Given the description of an element on the screen output the (x, y) to click on. 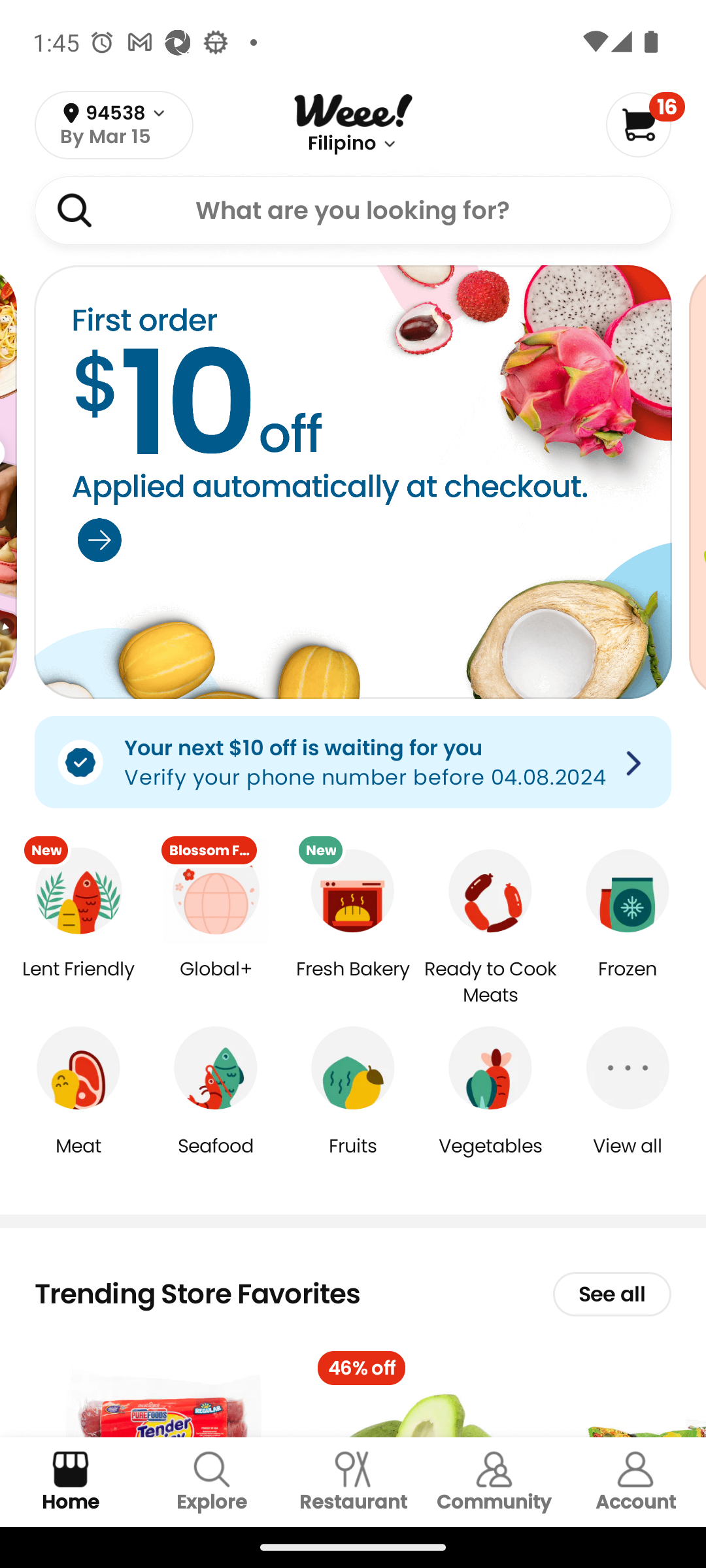
94538 By Mar 15 (113, 124)
16 (644, 124)
Filipino (341, 143)
What are you looking for? (352, 209)
Lent Friendly (77, 982)
Global+ (215, 982)
Fresh Bakery (352, 982)
Ready to Cook Meats (490, 982)
Frozen (627, 982)
Meat (77, 1159)
Seafood (215, 1159)
Fruits (352, 1159)
Vegetables (490, 1159)
View all (627, 1159)
Home (70, 1482)
Explore (211, 1482)
Restaurant (352, 1482)
Community (493, 1482)
Account (635, 1482)
